Given the description of an element on the screen output the (x, y) to click on. 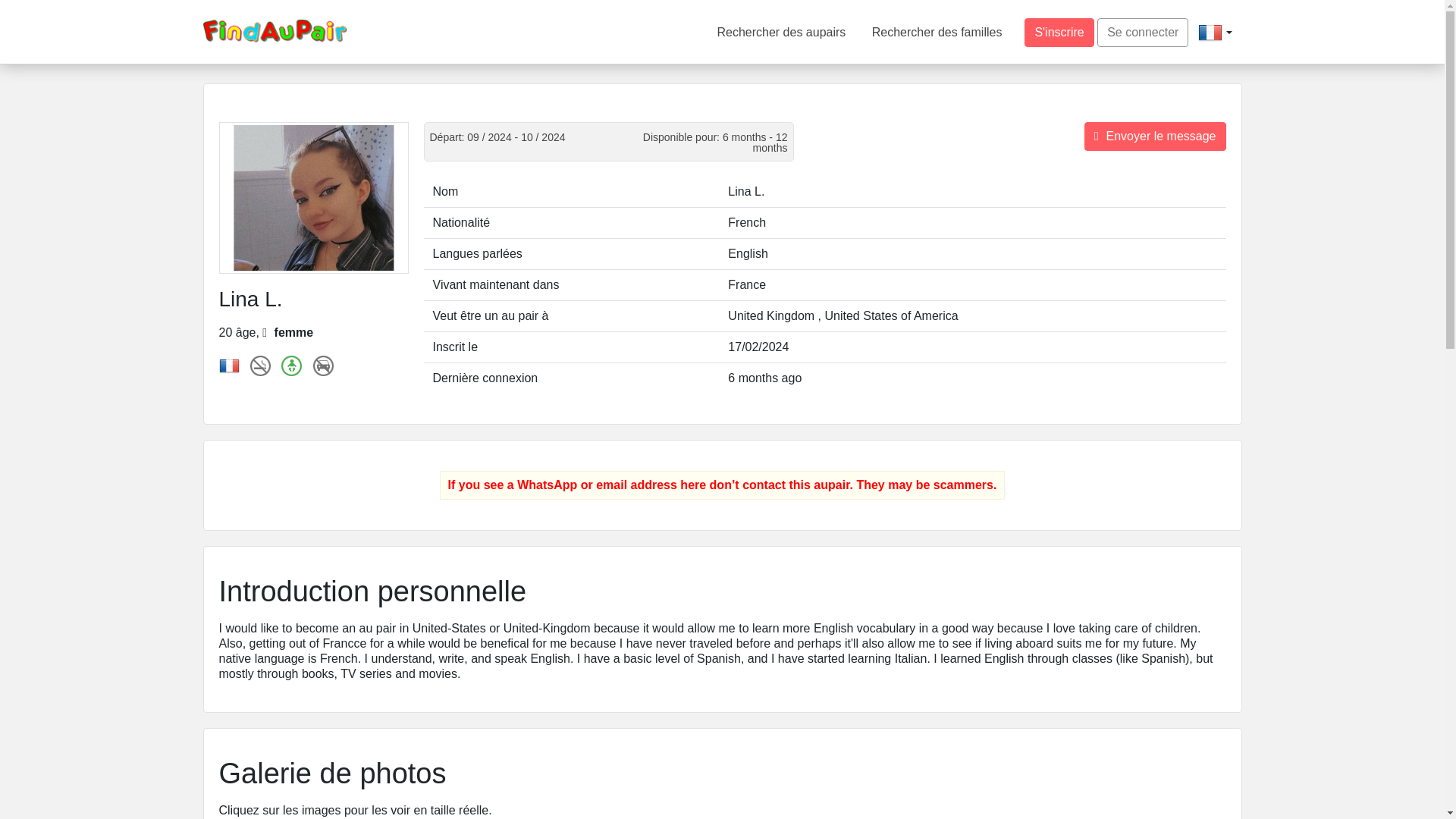
S'inscrire (1059, 32)
Envoyer le message (1154, 136)
Rechercher des aupairs (780, 31)
Findaupair (275, 30)
Se connecter (1142, 32)
Rechercher des familles (937, 31)
